Given the description of an element on the screen output the (x, y) to click on. 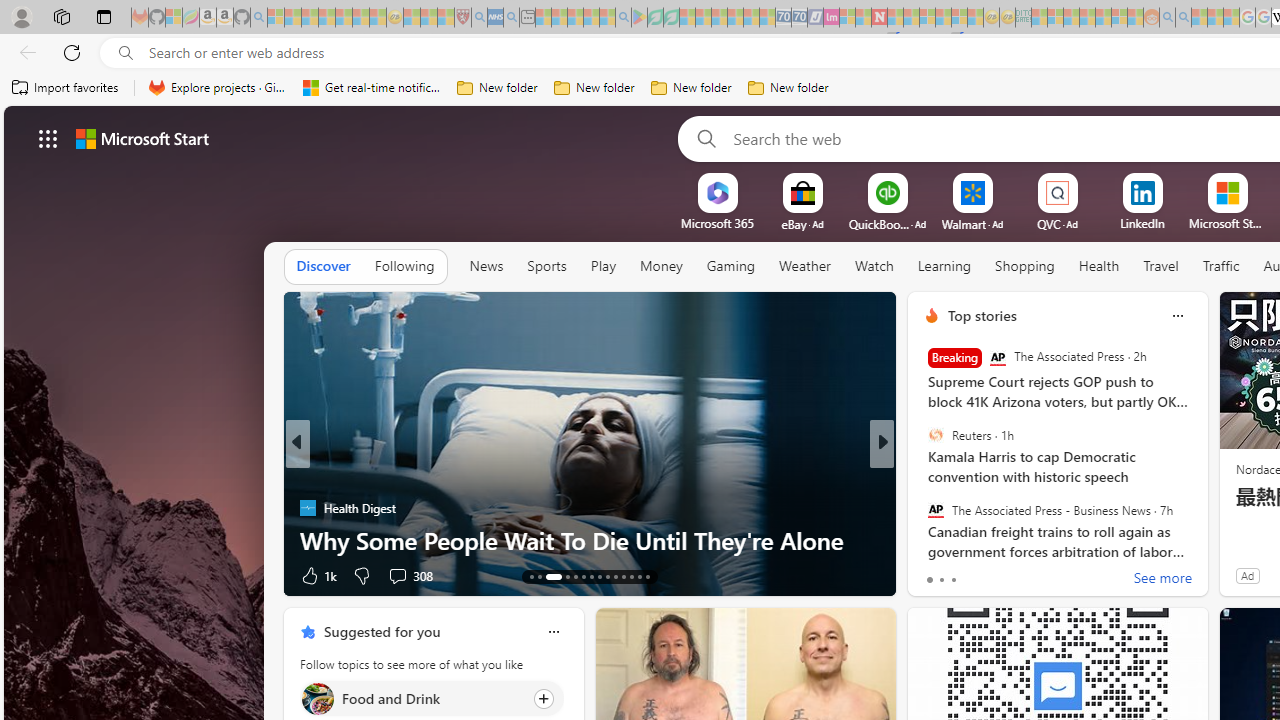
Top stories (982, 315)
Recipes - MSN - Sleeping (411, 17)
Pets - MSN - Sleeping (591, 17)
69 Like (934, 574)
View comments 81 Comment (1029, 574)
Shopping (1025, 265)
View comments 6 Comment (1014, 575)
New folder (788, 88)
AutomationID: tab-19 (591, 576)
AutomationID: tab-23 (623, 576)
Weather (804, 265)
73 Like (934, 574)
